Given the description of an element on the screen output the (x, y) to click on. 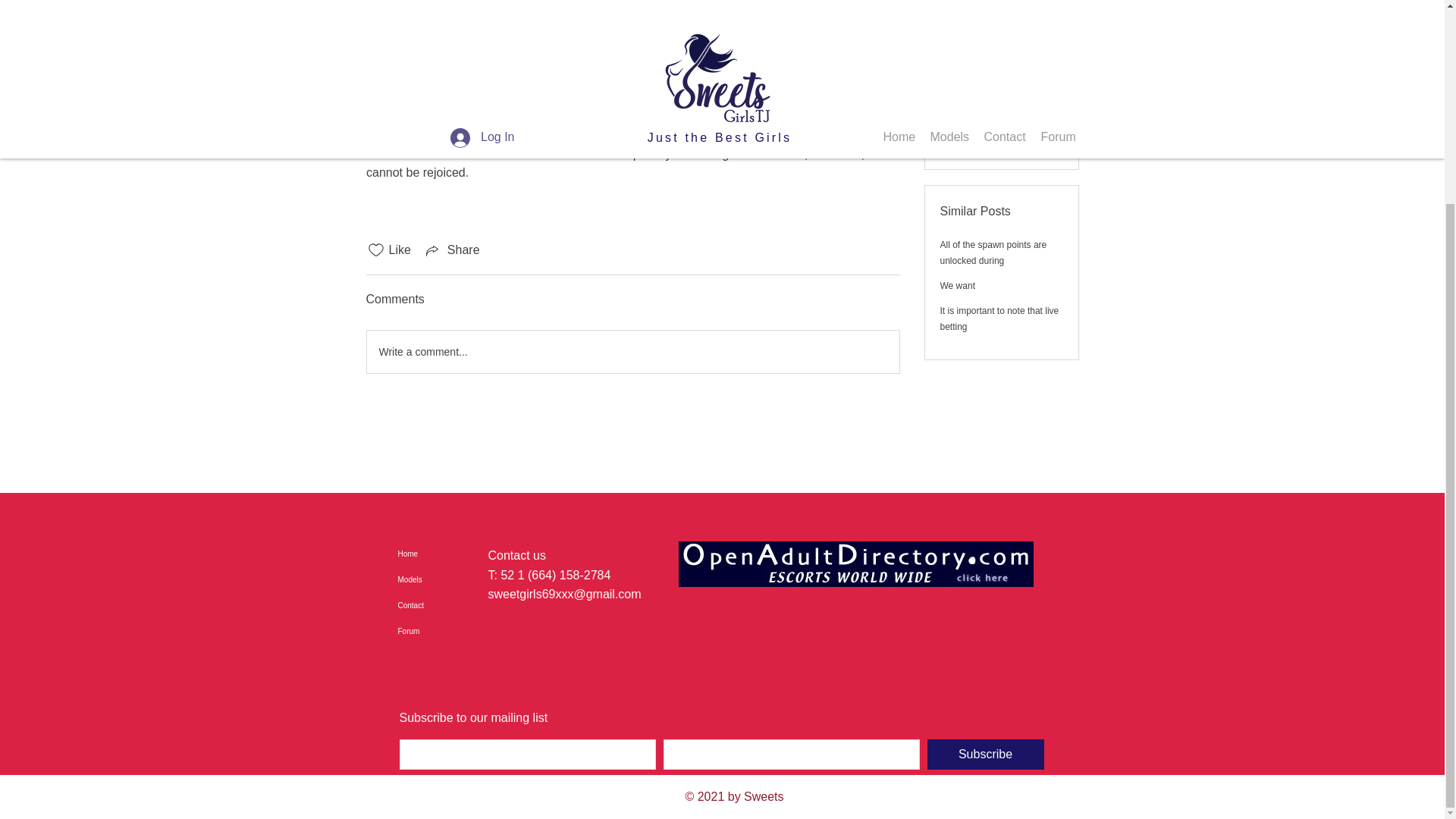
All of the spawn points are unlocked during (993, 203)
in General Discussions (427, 51)
It is important to note that live betting (999, 270)
Models (469, 579)
Subscribe (984, 754)
Forum (469, 631)
Write a comment... (632, 351)
We want (957, 236)
Contact (469, 605)
Share (451, 249)
Follow Post (1000, 19)
Home (469, 554)
